Given the description of an element on the screen output the (x, y) to click on. 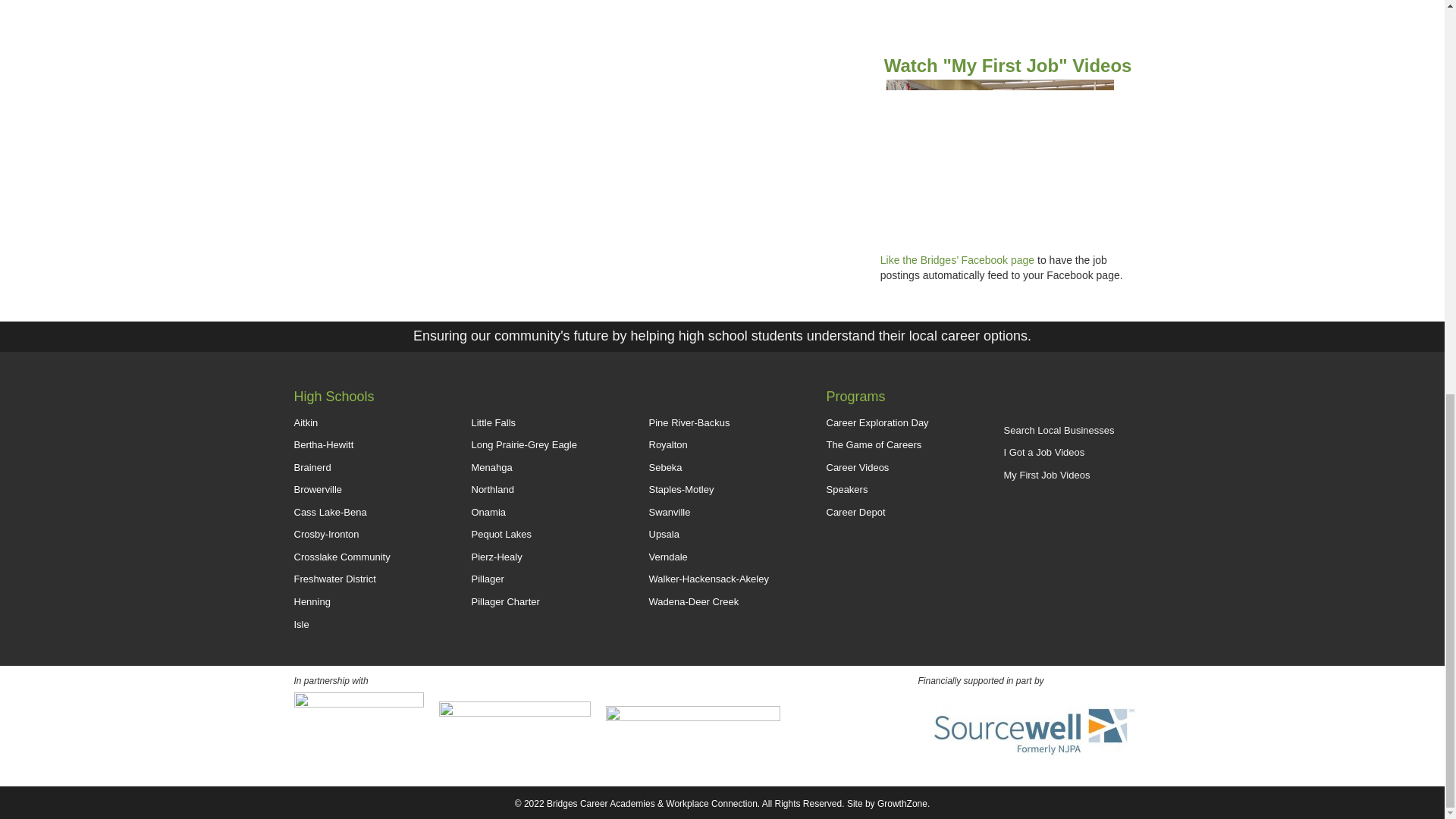
Crosby-Ironton (367, 535)
Aitkin (367, 423)
Browerville (367, 490)
Brainerd (367, 468)
Cass Lake-Bena (367, 513)
Bertha-Hewitt (367, 445)
Programs (856, 396)
Watch "My First Job" Videos (1007, 65)
